Given the description of an element on the screen output the (x, y) to click on. 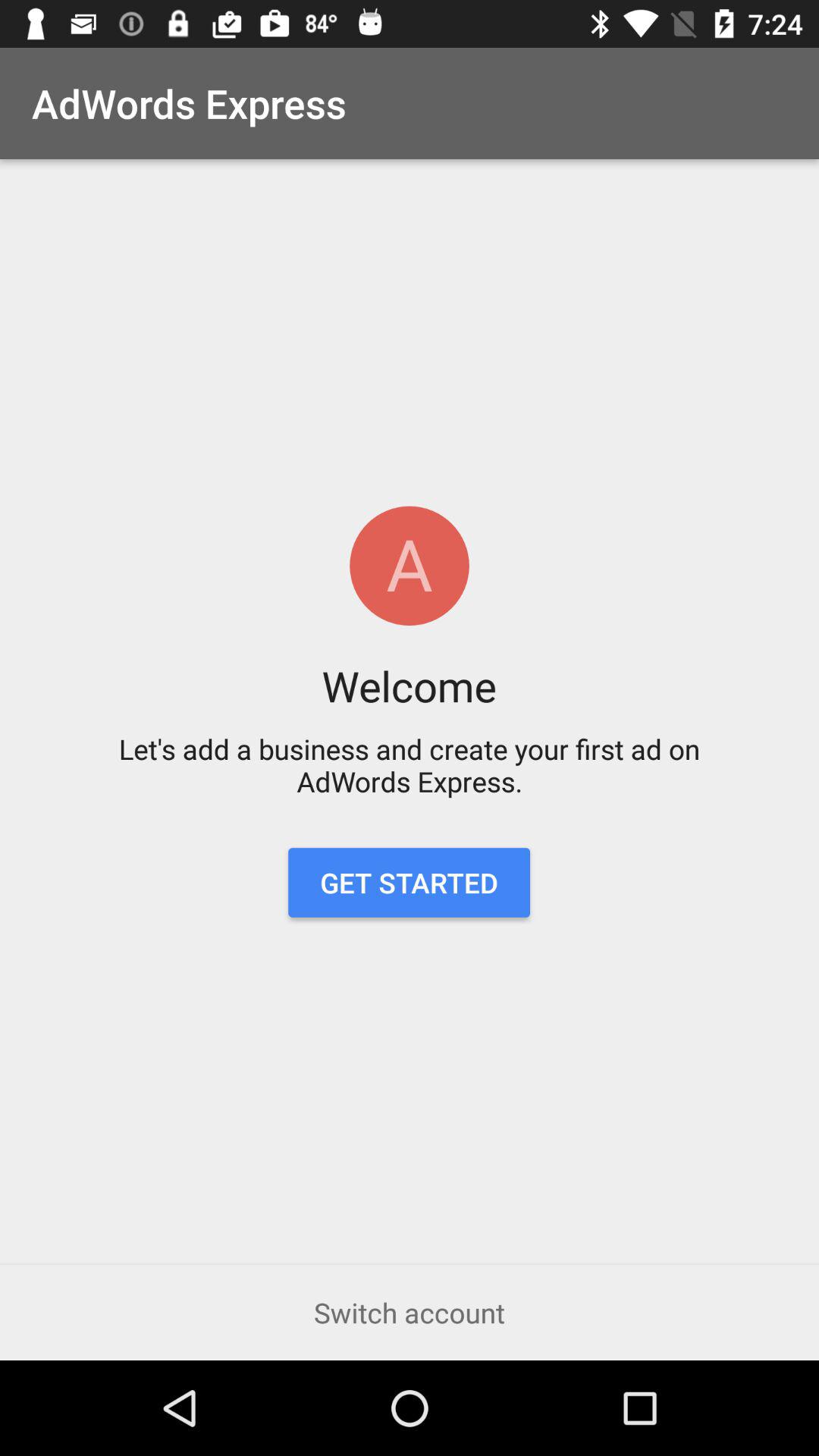
select the get started item (409, 882)
